Given the description of an element on the screen output the (x, y) to click on. 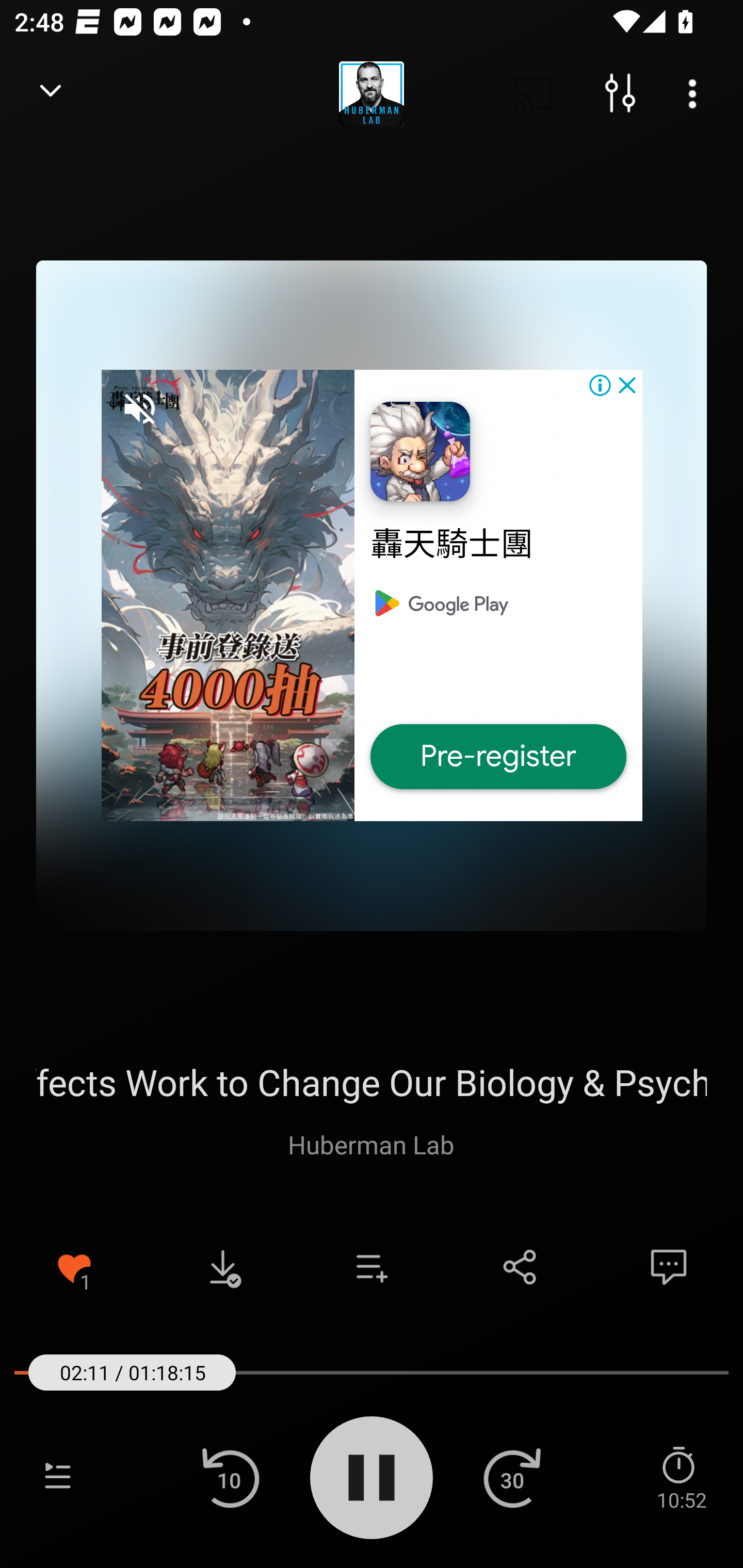
 Back (50, 94)
轟天騎士團 Pre-register Pre-register (371, 595)
Pre-register (498, 757)
Huberman Lab (370, 1144)
Comments (668, 1266)
Remove from Favorites (73, 1266)
Add to playlist (371, 1266)
Share (519, 1266)
Sleep Timer  10:52 (681, 1477)
 Playlist (57, 1477)
